Given the description of an element on the screen output the (x, y) to click on. 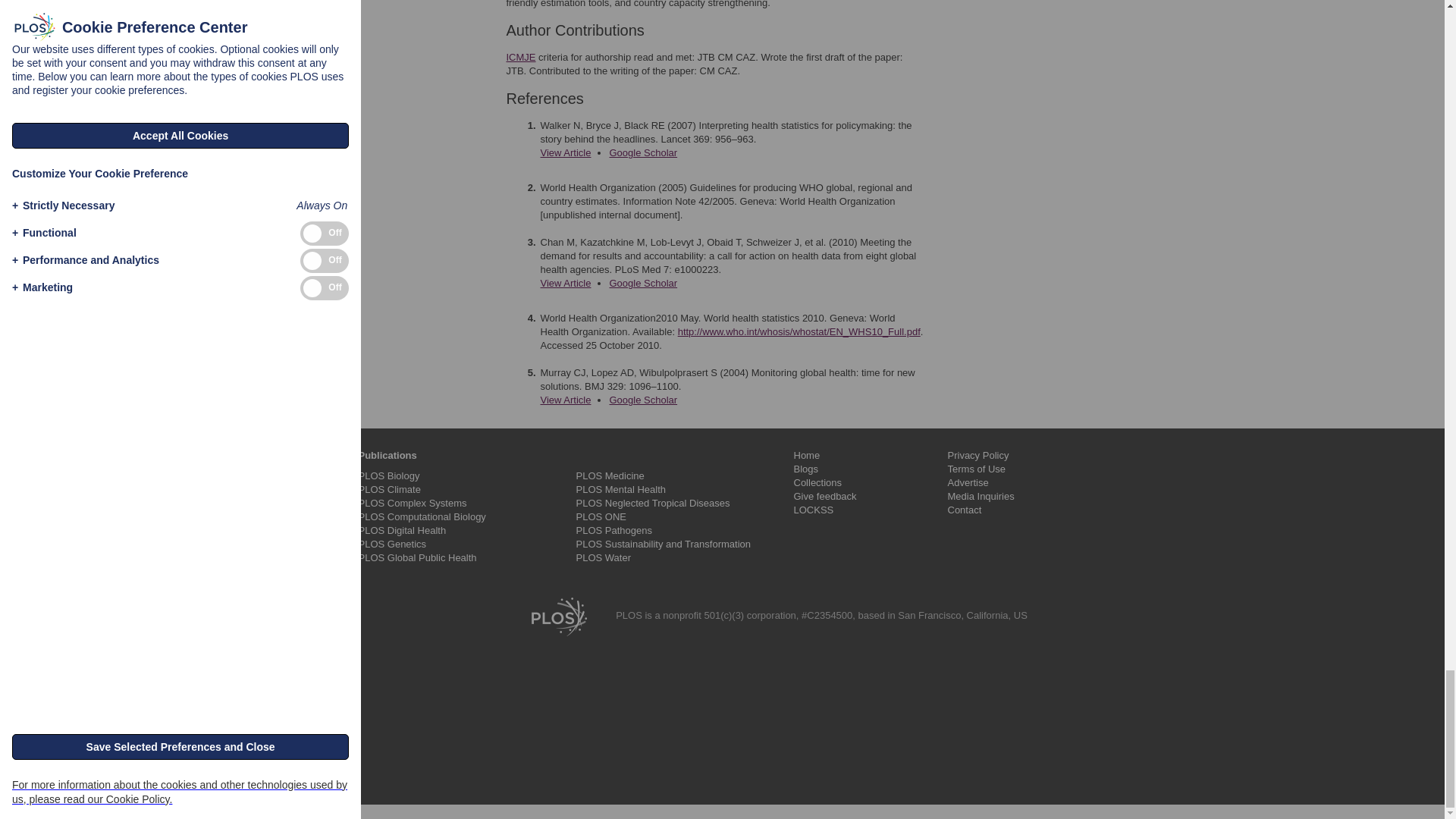
Go to article (565, 283)
Go to article in Google Scholar (642, 152)
Go to article in CrossRef (565, 152)
